Given the description of an element on the screen output the (x, y) to click on. 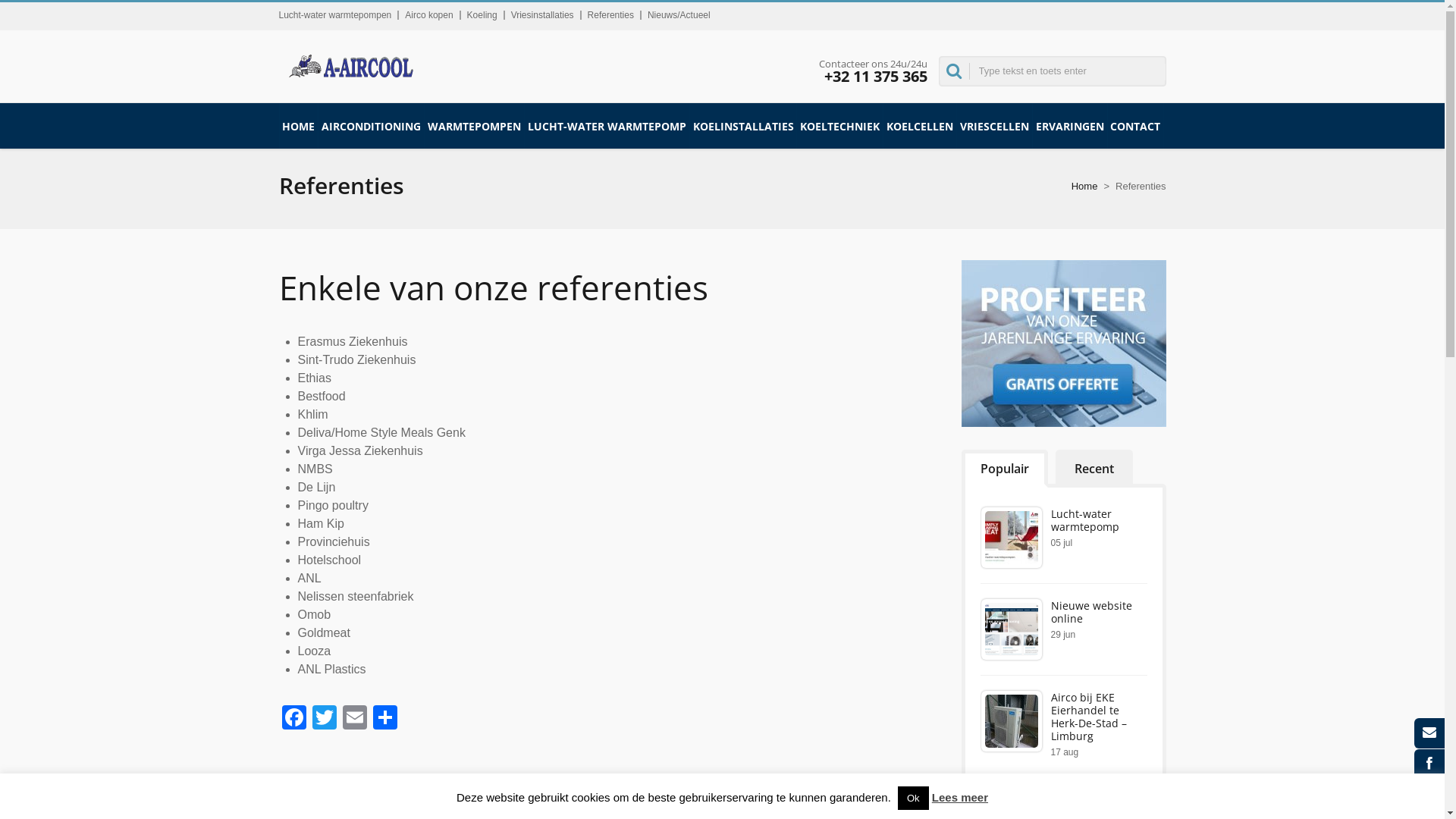
Nieuws/Actueel Element type: text (678, 14)
Vriesinstallaties Element type: text (542, 14)
CONTACT Element type: text (1135, 125)
Populair Element type: text (1004, 468)
KOELCELLEN Element type: text (919, 125)
Twitter Element type: text (324, 719)
17 aug Element type: text (1065, 751)
05 jul Element type: text (1062, 542)
Nieuwe website online Element type: text (1091, 611)
Lucht-water warmtepompen Element type: text (335, 14)
AIRCONDITIONING Element type: text (370, 125)
Recent Element type: text (1093, 468)
Facebook Element type: text (294, 719)
Email Element type: text (354, 719)
KOELTECHNIEK Element type: text (839, 125)
Lees meer Element type: text (959, 796)
Home Element type: text (1084, 185)
Lucht-water warmtepomp Element type: text (1085, 519)
Ok Element type: text (912, 797)
KOELINSTALLATIES Element type: text (743, 125)
ERVARINGEN Element type: text (1069, 125)
29 jun Element type: text (1063, 634)
Koeling Element type: text (482, 14)
Referenties Element type: text (610, 14)
VRIESCELLEN Element type: text (994, 125)
WARMTEPOMPEN Element type: text (474, 125)
LUCHT-WATER WARMTEPOMP Element type: text (606, 125)
Airco kopen Element type: text (428, 14)
HOME Element type: text (298, 125)
Delen Element type: text (385, 719)
